Given the description of an element on the screen output the (x, y) to click on. 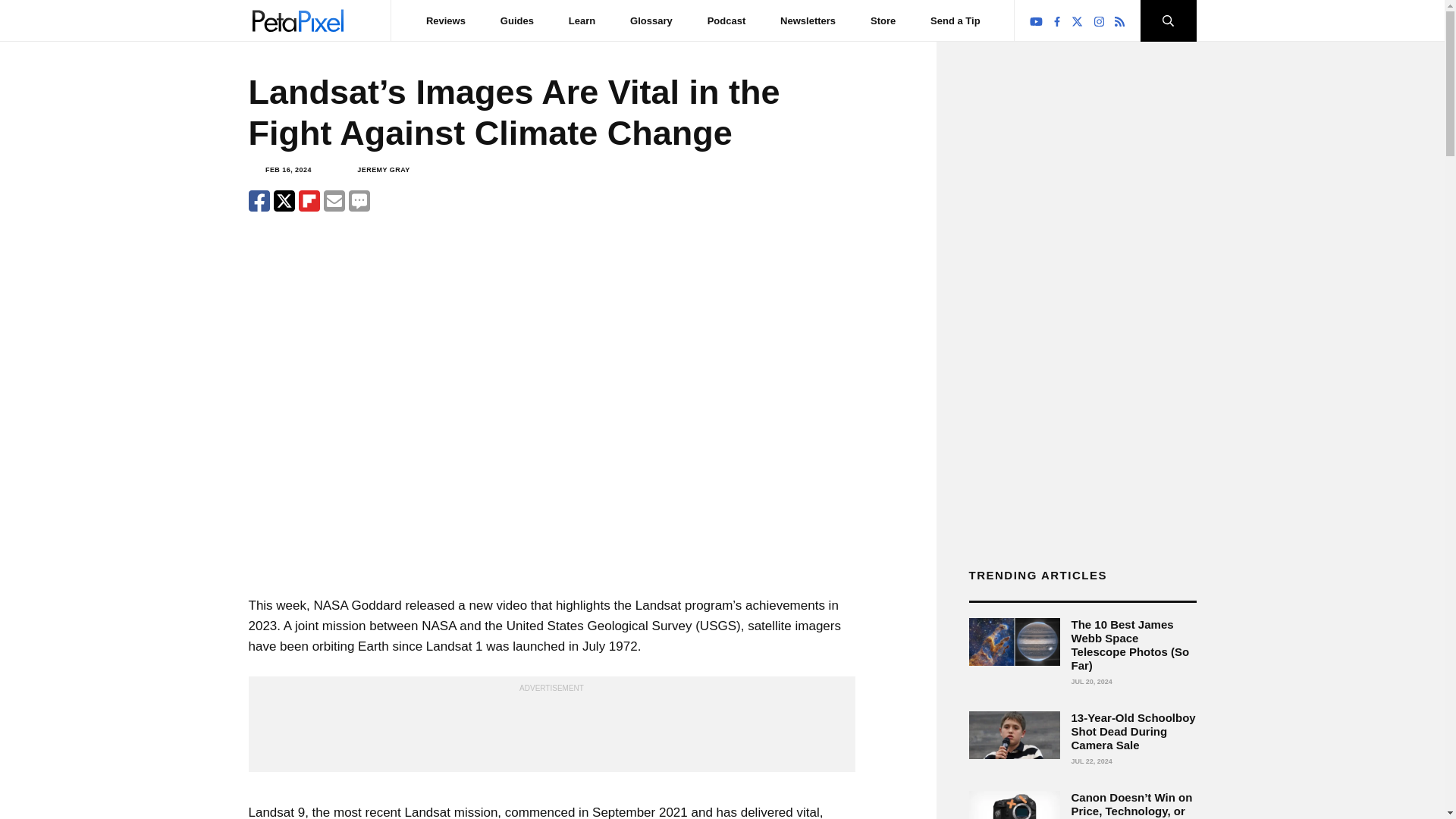
Glossary (651, 20)
Reviews (445, 20)
JEREMY GRAY (382, 169)
Follow PetaPixel on X (1077, 21)
PetaPixel (296, 20)
Comments (359, 200)
Follow PetaPixel on YouTube (1035, 21)
Share on Flipboard (309, 200)
Guides (517, 20)
Share on X (283, 200)
Learn (582, 20)
PetaPixel (296, 20)
Share on facebook (258, 200)
Send a Tip (954, 20)
Podcast (726, 20)
